Given the description of an element on the screen output the (x, y) to click on. 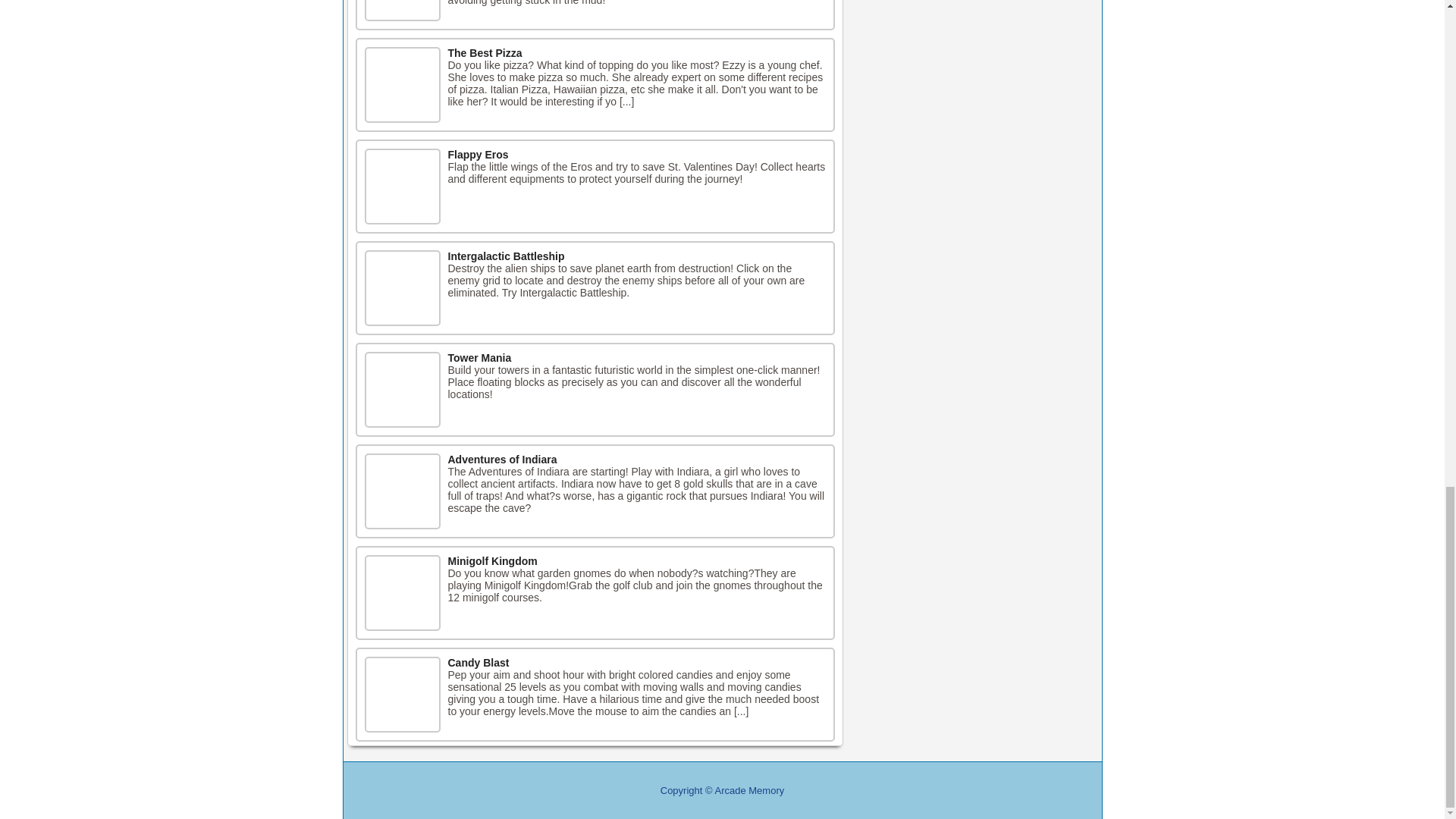
Tower Mania (478, 357)
Flappy Eros (477, 154)
The Best Pizza (483, 52)
Intergalactic Battleship (505, 256)
